Given the description of an element on the screen output the (x, y) to click on. 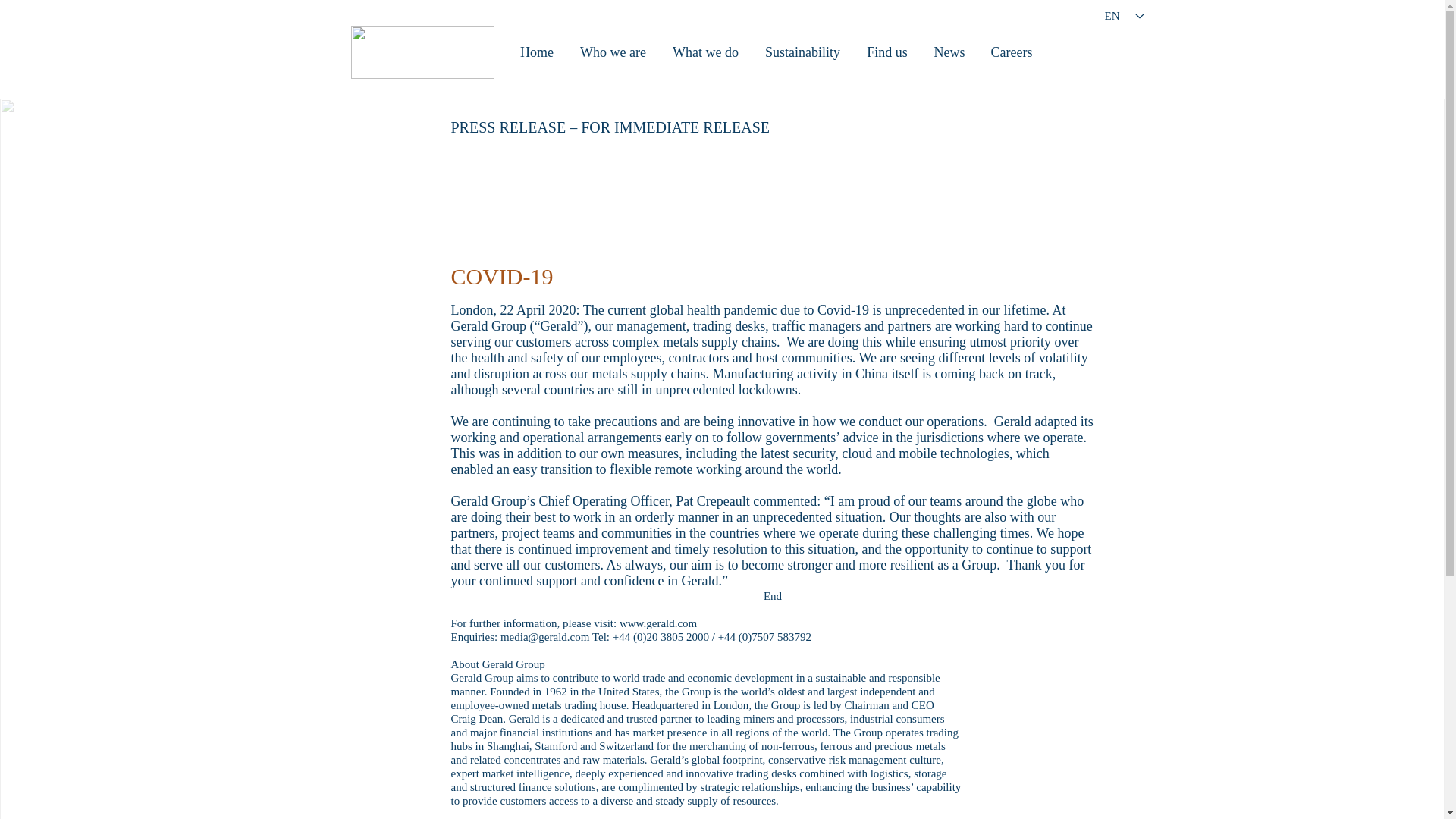
Who we are (613, 52)
What we do (705, 52)
Find us (887, 52)
Gerald Logo RGB Full Colour.jpg (421, 51)
Sustainability (802, 52)
Home (536, 52)
News (948, 52)
Careers (1011, 52)
www.gerald.com (658, 623)
